Given the description of an element on the screen output the (x, y) to click on. 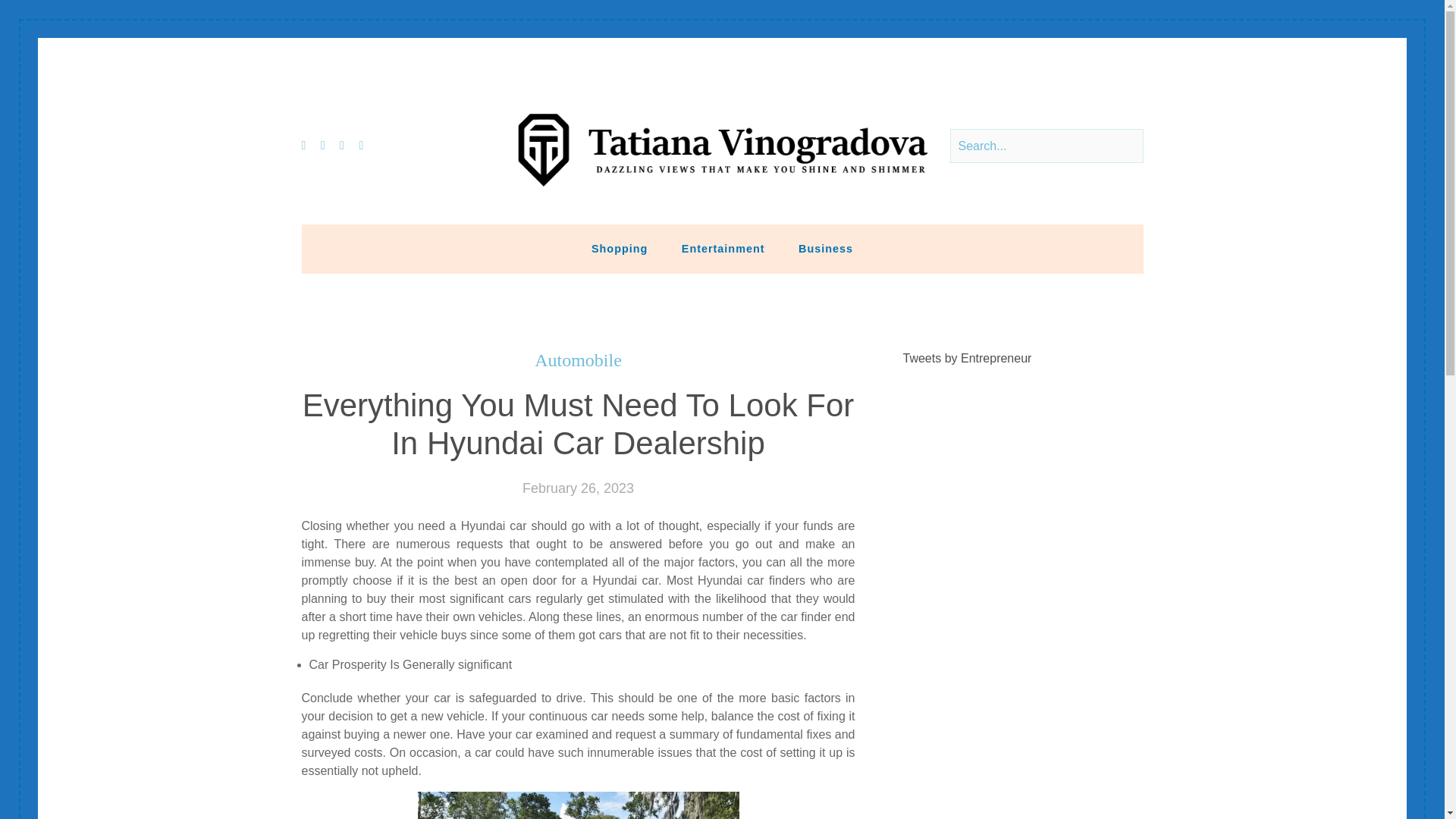
February 26, 2023 (577, 488)
Business (825, 248)
Automobile (577, 360)
Shopping (619, 248)
Entertainment (723, 248)
Tweets by Entrepreneur (967, 358)
